Given the description of an element on the screen output the (x, y) to click on. 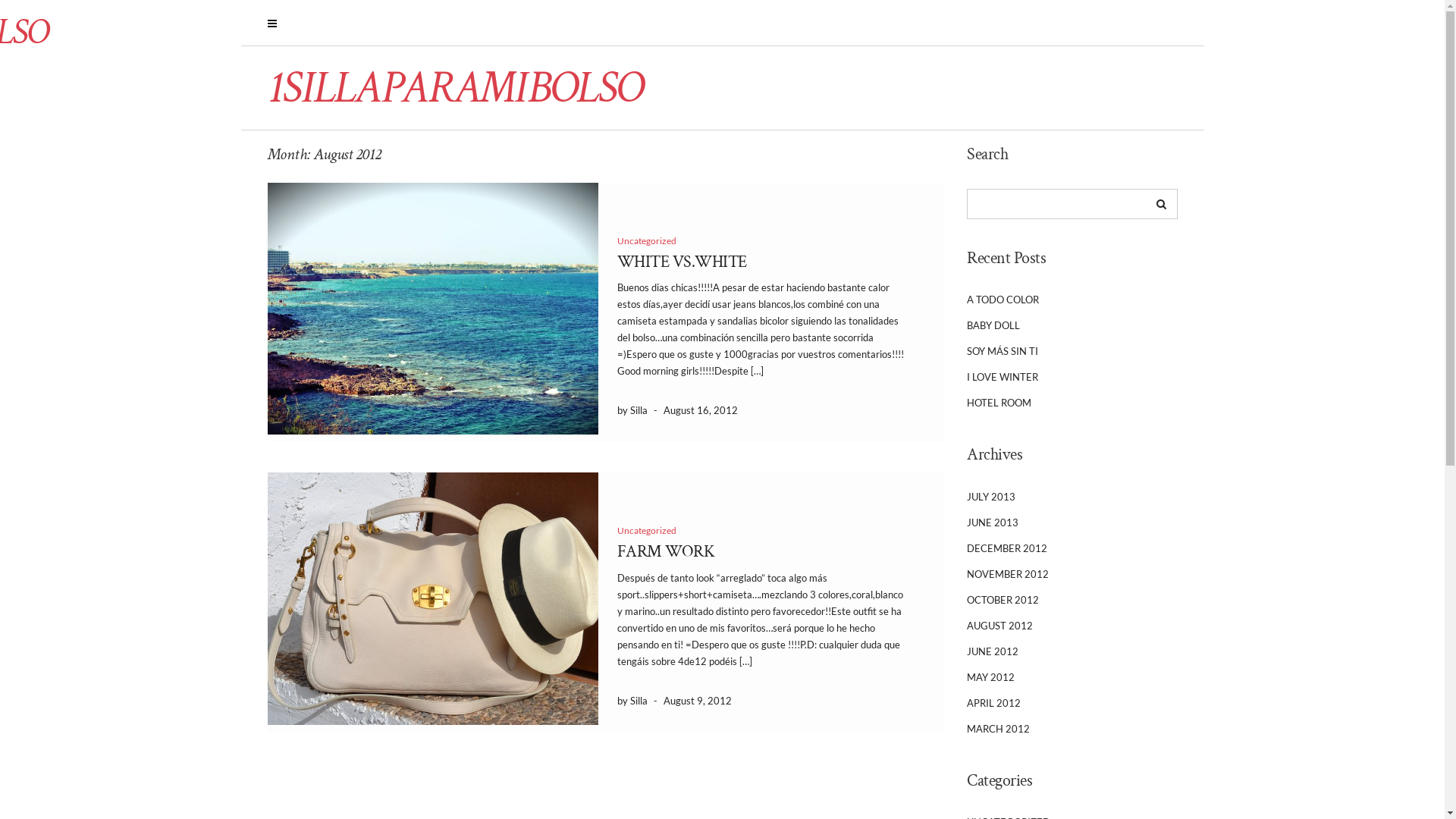
JULY 2013 Element type: text (990, 496)
BABY DOLL Element type: text (992, 325)
JUNE 2012 Element type: text (992, 651)
MAY 2012 Element type: text (990, 677)
DECEMBER 2012 Element type: text (1006, 548)
MARCH 2012 Element type: text (997, 728)
APRIL 2012 Element type: text (993, 702)
AUGUST 2012 Element type: text (999, 625)
1SILLAPARAMIBOLSO Element type: text (454, 87)
Uncategorized Element type: text (646, 530)
OCTOBER 2012 Element type: text (1002, 599)
HOTEL ROOM Element type: text (998, 402)
FARM WORK Element type: text (666, 551)
NOVEMBER 2012 Element type: text (1007, 573)
A TODO COLOR Element type: text (1002, 299)
I LOVE WINTER Element type: text (1002, 376)
JUNE 2013 Element type: text (992, 522)
Uncategorized Element type: text (646, 240)
WHITE VS.WHITE Element type: text (681, 262)
